Given the description of an element on the screen output the (x, y) to click on. 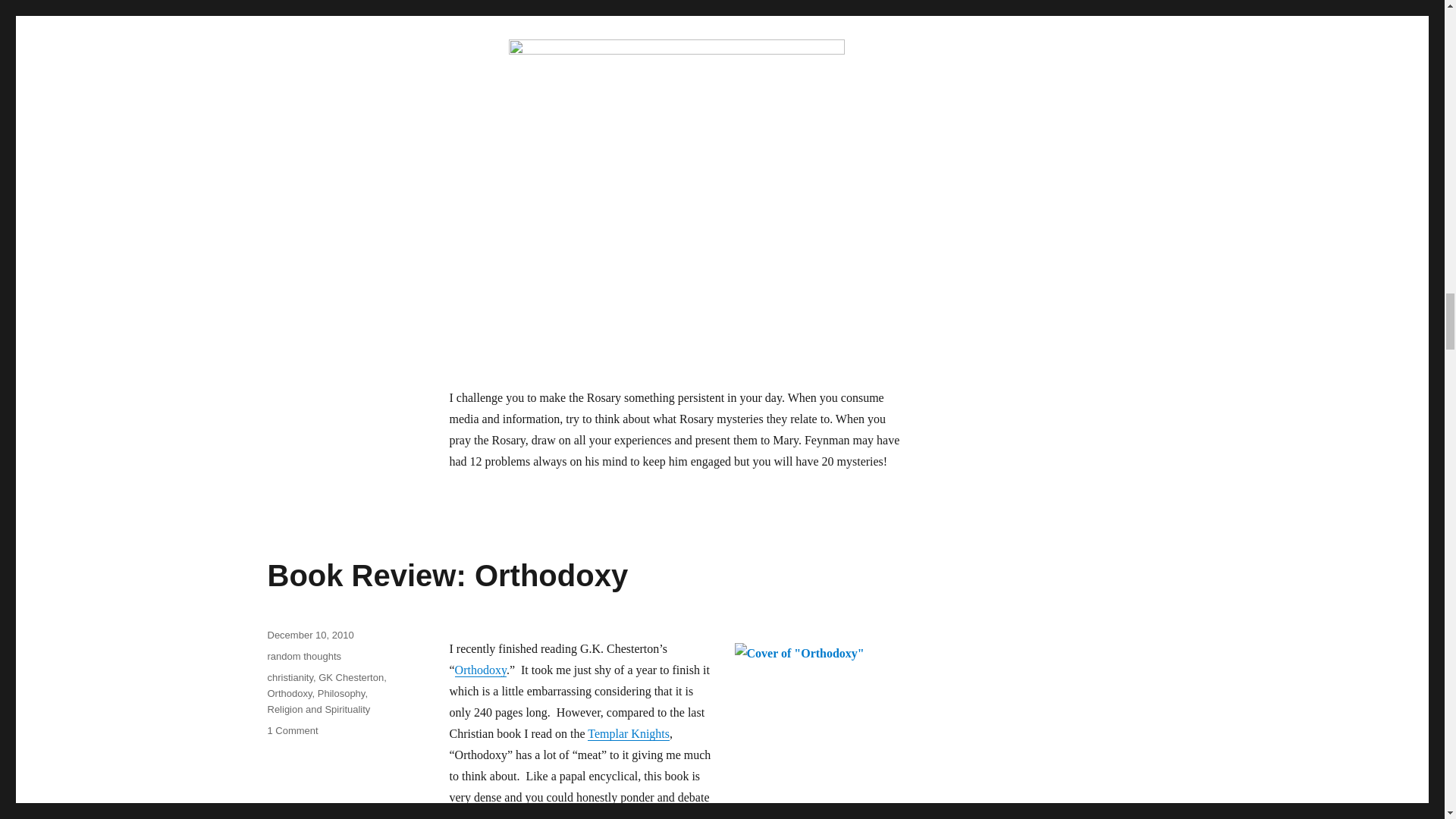
December 10, 2010 (309, 634)
Orthodoxy (480, 669)
christianity (289, 677)
random thoughts (303, 655)
Book Review: Orthodoxy (446, 575)
Orthodoxy (480, 669)
Templar Knights (628, 733)
